Given the description of an element on the screen output the (x, y) to click on. 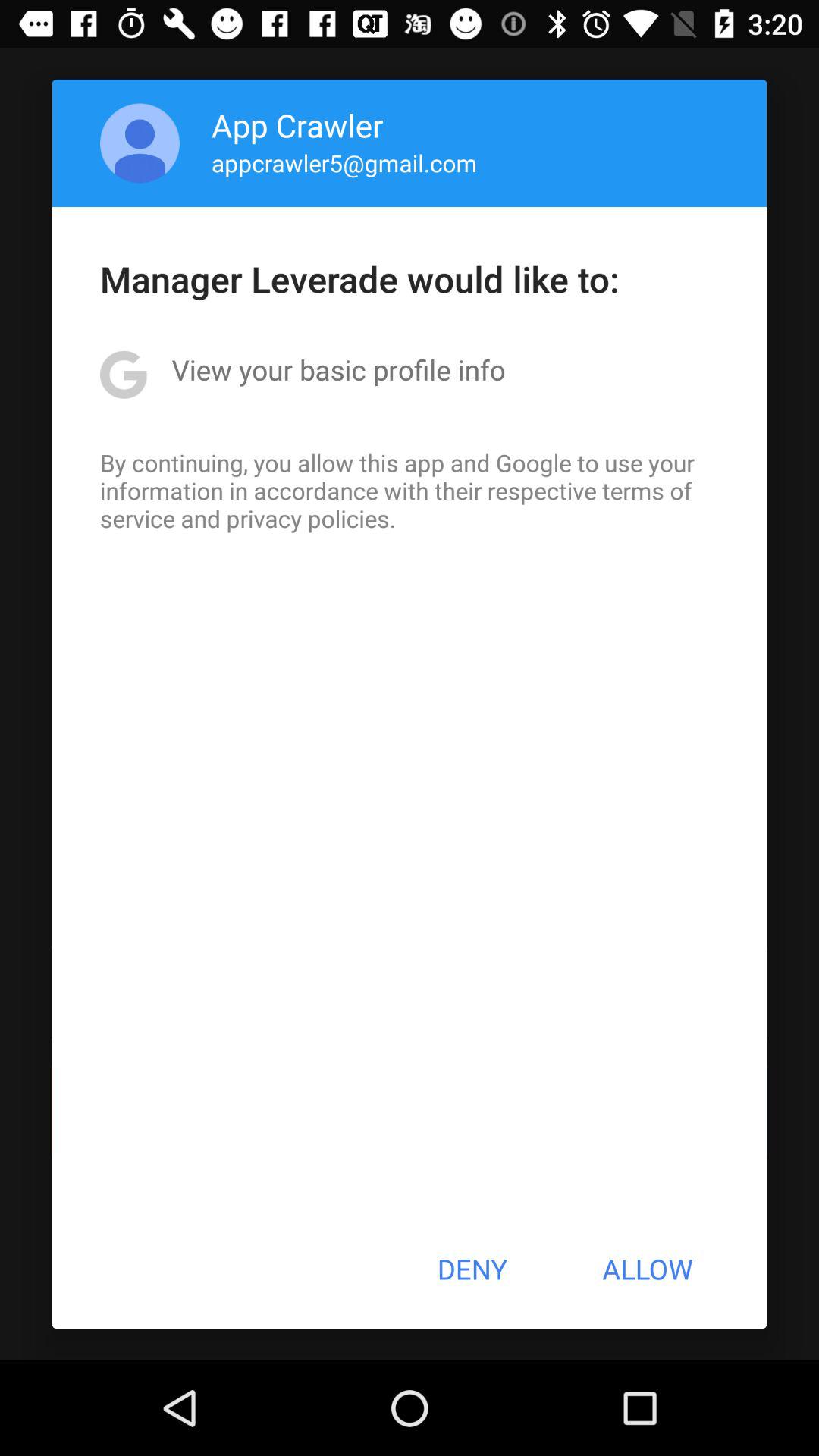
swipe until the deny item (471, 1268)
